Given the description of an element on the screen output the (x, y) to click on. 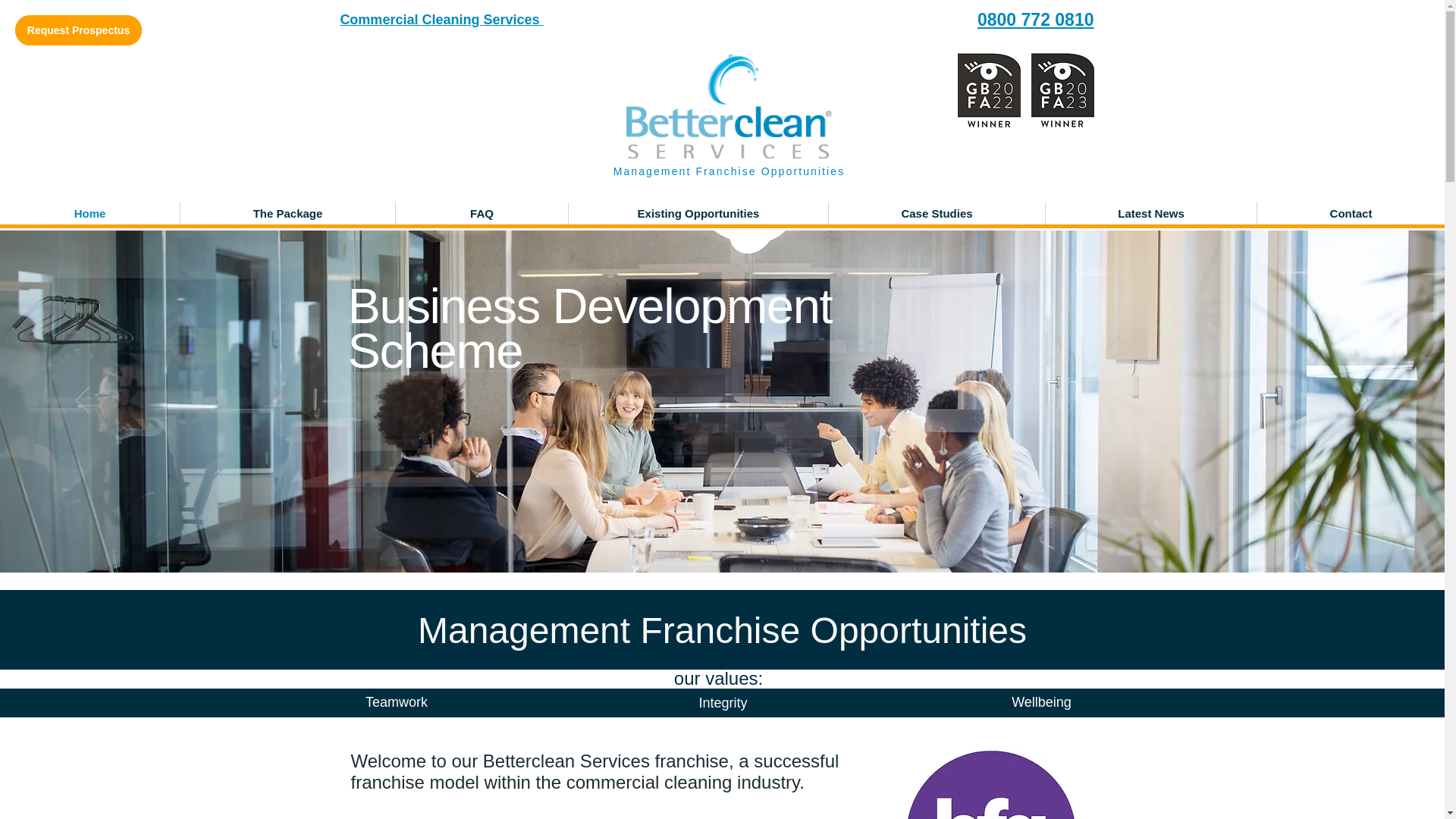
Request Prospectus (77, 30)
Commercial Cleaning Services  (441, 19)
0800 772 0810 (1035, 19)
Latest News (1150, 213)
Case Studies (936, 213)
FAQ (481, 213)
Home (89, 213)
